Given the description of an element on the screen output the (x, y) to click on. 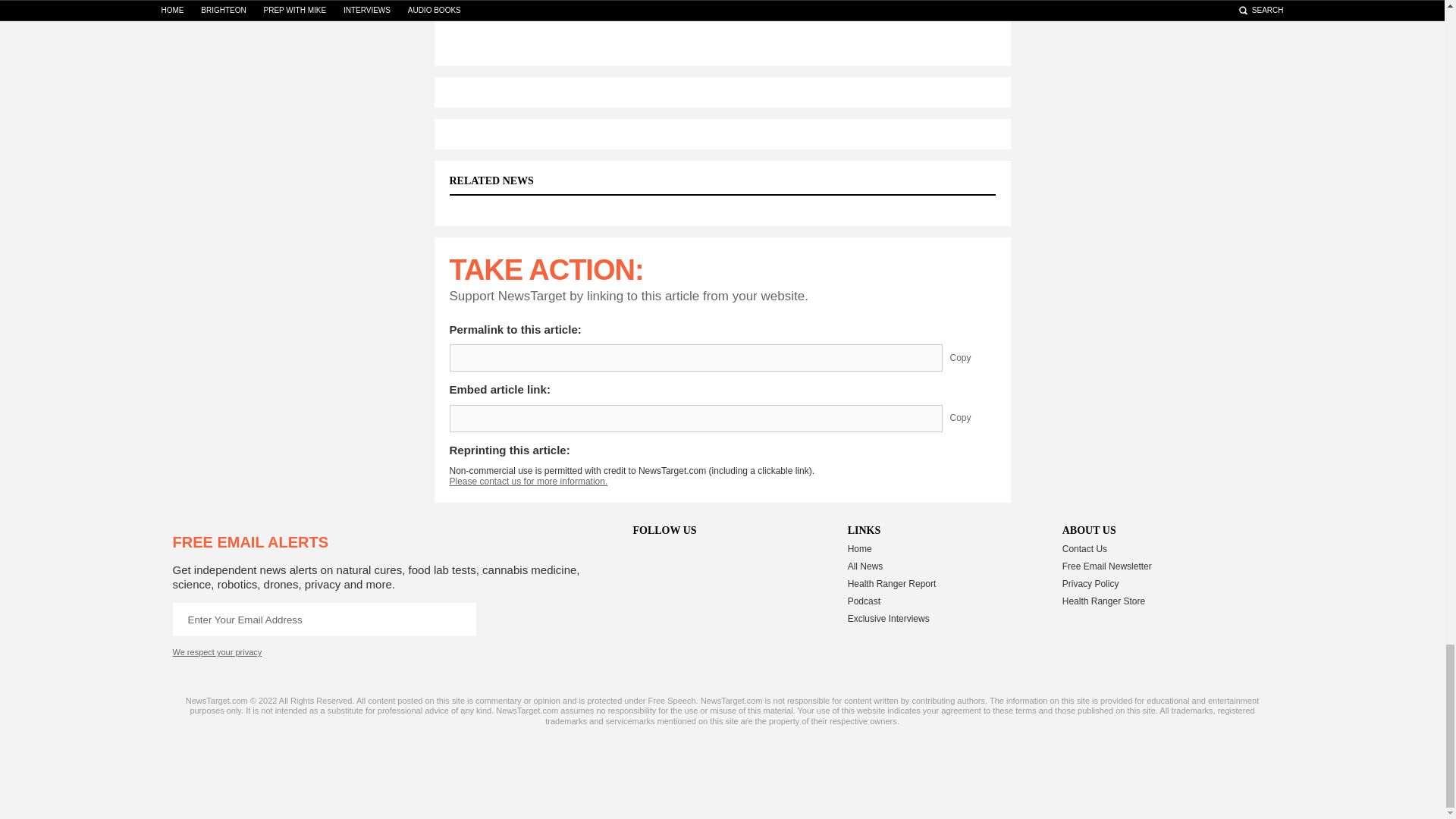
Copy Embed Link (971, 418)
Copy Permalink (971, 357)
Continue (459, 619)
